Given the description of an element on the screen output the (x, y) to click on. 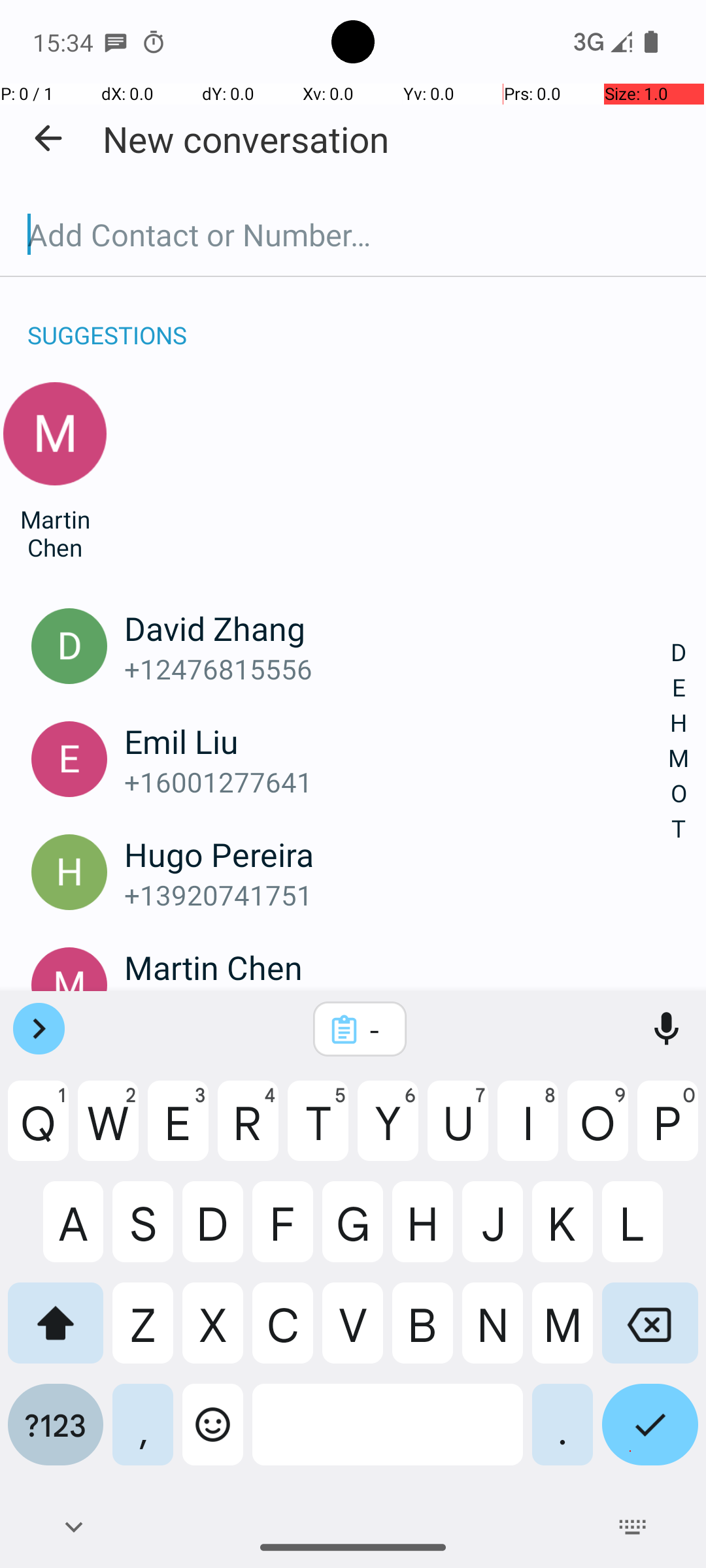
SUGGESTIONS Element type: android.widget.TextView (106, 321)
D
E
H
M
O
T Element type: android.widget.TextView (678, 740)
Martin Chen Element type: android.widget.TextView (54, 532)
David Zhang Element type: android.widget.TextView (397, 627)
+12476815556 Element type: android.widget.TextView (397, 668)
+16001277641 Element type: android.widget.TextView (397, 781)
+13920741751 Element type: android.widget.TextView (397, 894)
+11828619301 Element type: android.widget.TextView (397, 1007)
